Given the description of an element on the screen output the (x, y) to click on. 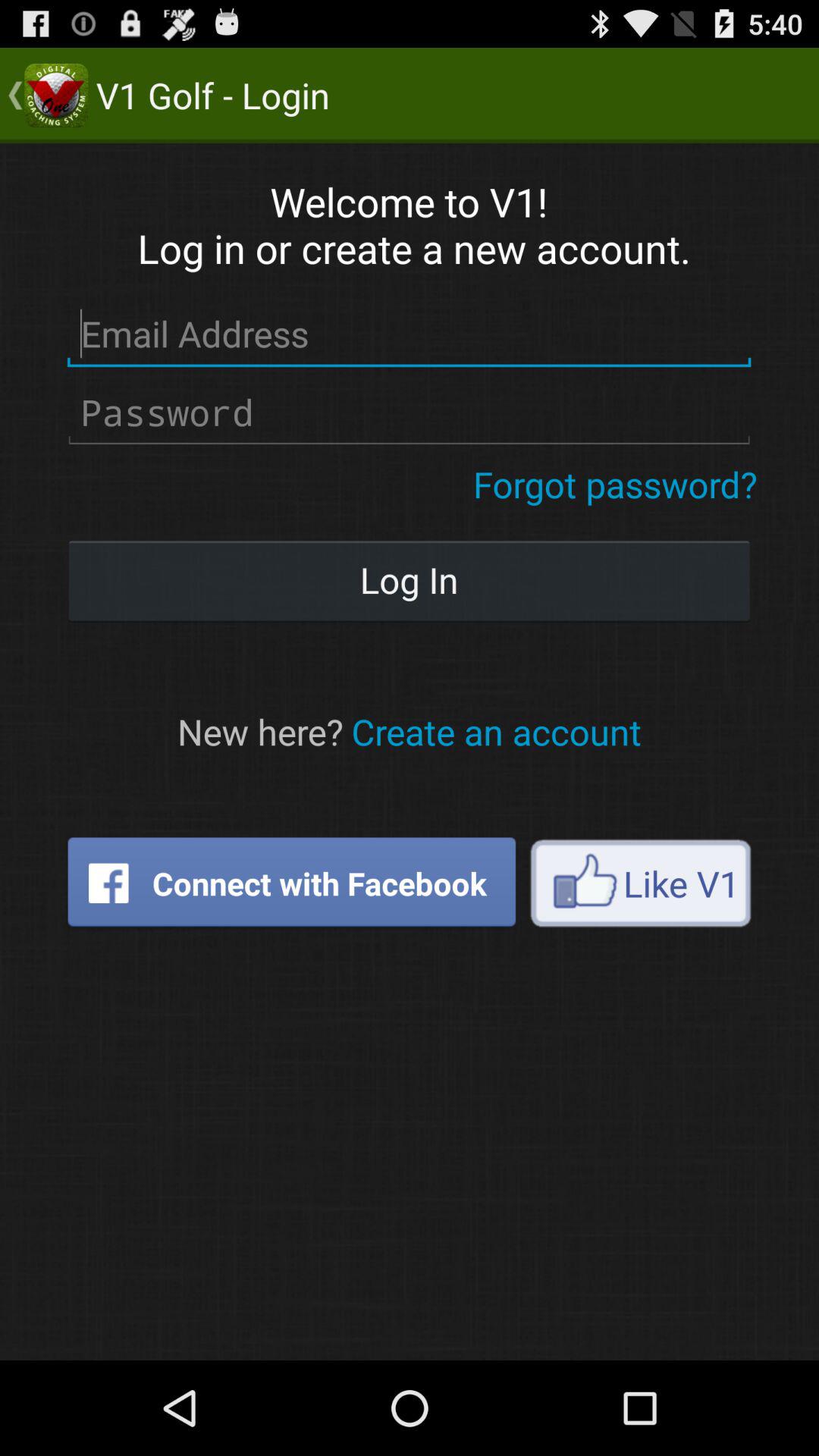
password button (408, 412)
